Given the description of an element on the screen output the (x, y) to click on. 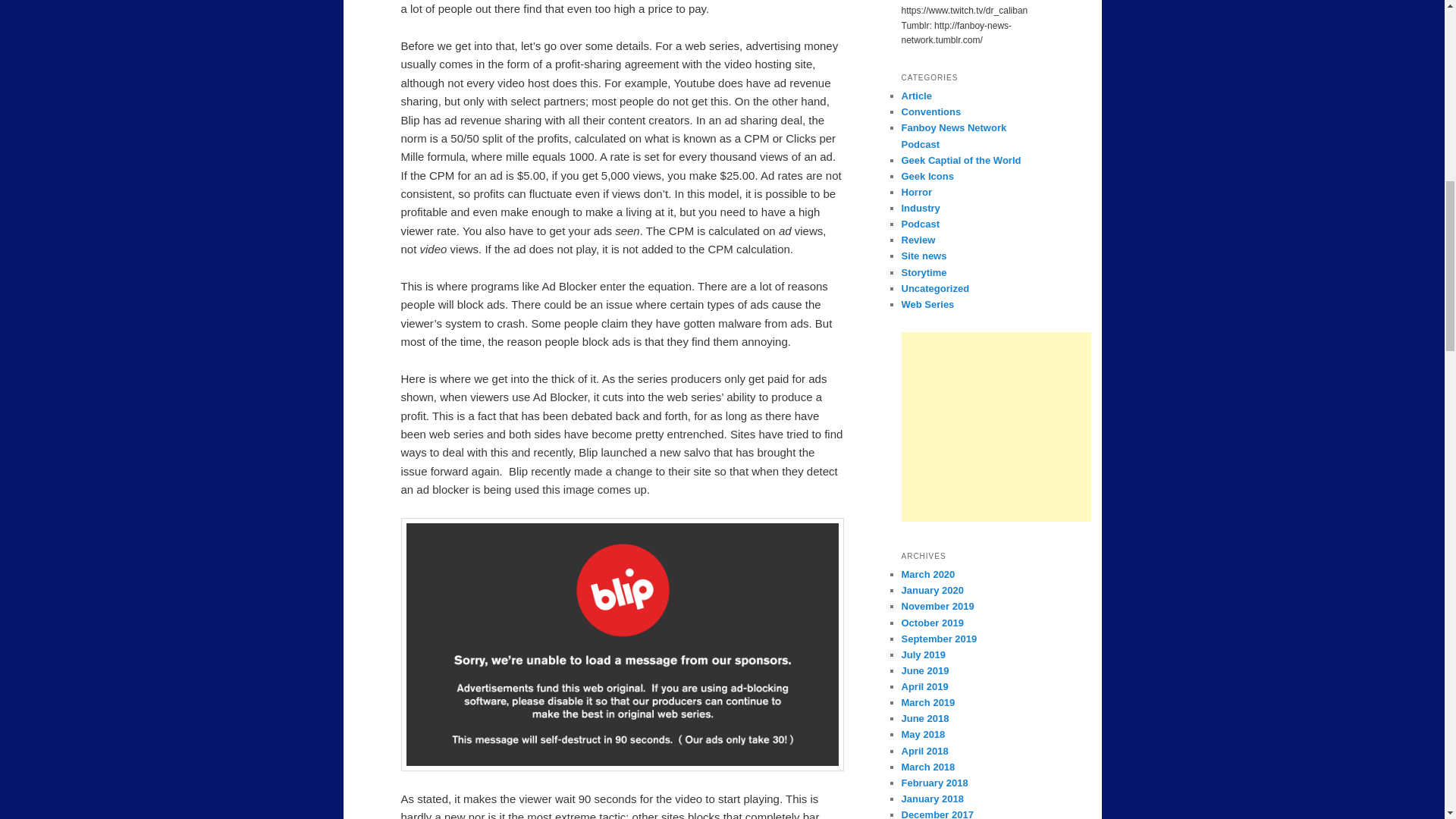
Geek Captial of the World (960, 160)
Fanboy News Network Podcast (953, 135)
Uncategorized (935, 288)
November 2019 (937, 605)
Site news (923, 255)
Review (917, 239)
January 2020 (931, 590)
Industry (920, 207)
March 2020 (928, 573)
Horror (916, 192)
Advertisement (995, 426)
Conventions (930, 111)
Article (916, 95)
Storytime (923, 272)
Geek Icons (927, 175)
